Given the description of an element on the screen output the (x, y) to click on. 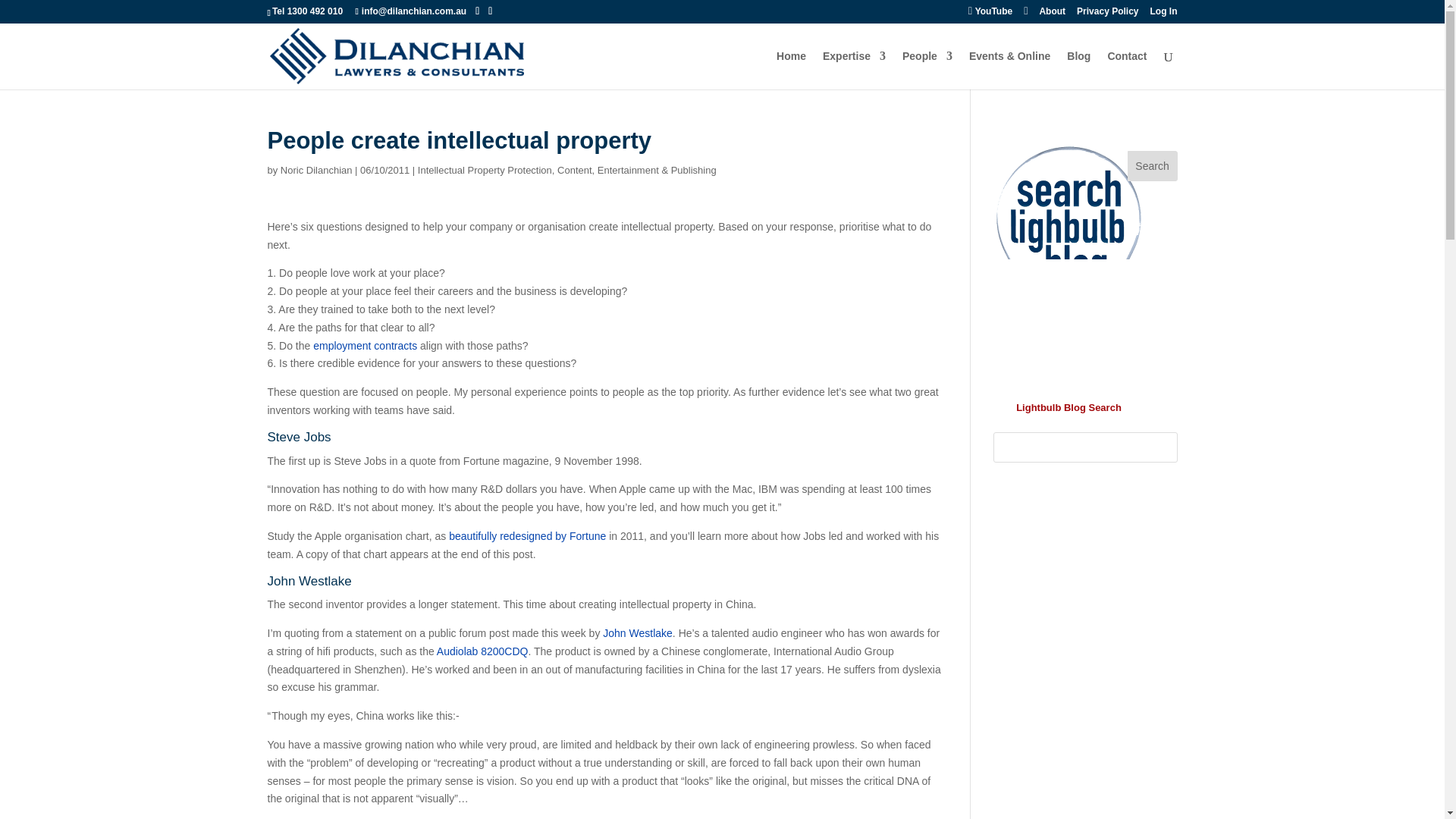
Log In (1163, 14)
Privacy Policy (1107, 14)
About (1052, 14)
Noric Dilanchian (316, 170)
Expertise (853, 69)
Contact (1126, 69)
People (927, 69)
Audiolab 8200CDQ (482, 651)
John Westlake (637, 633)
Intellectual Property Protection (484, 170)
